Given the description of an element on the screen output the (x, y) to click on. 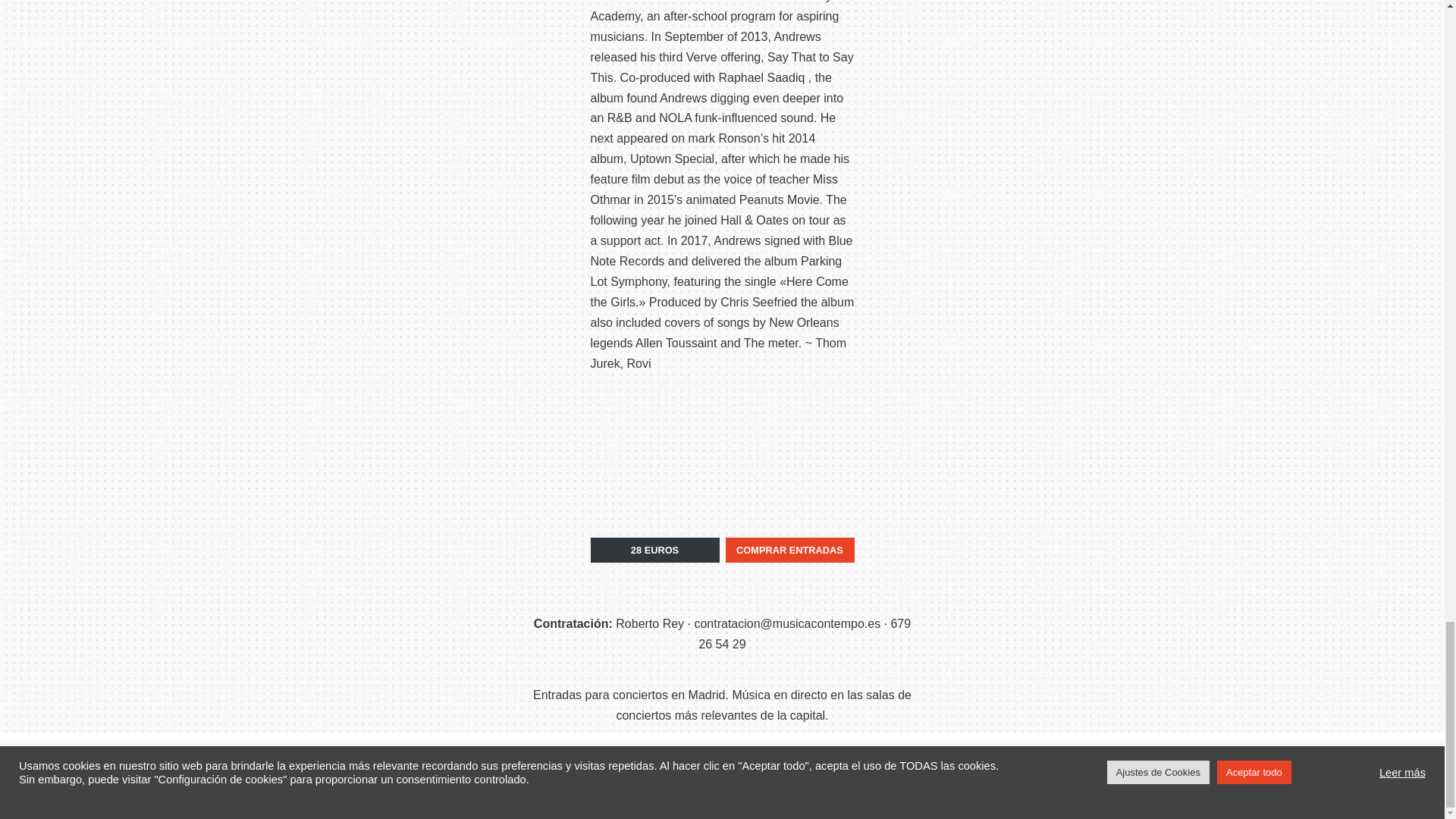
POLITICA DE COOKIES (851, 758)
28 EUROS (654, 549)
COMPRAR ENTRADAS (789, 549)
POLITICA DE PRIVACIDAD (824, 792)
AVISO LEGAL (762, 758)
